Given the description of an element on the screen output the (x, y) to click on. 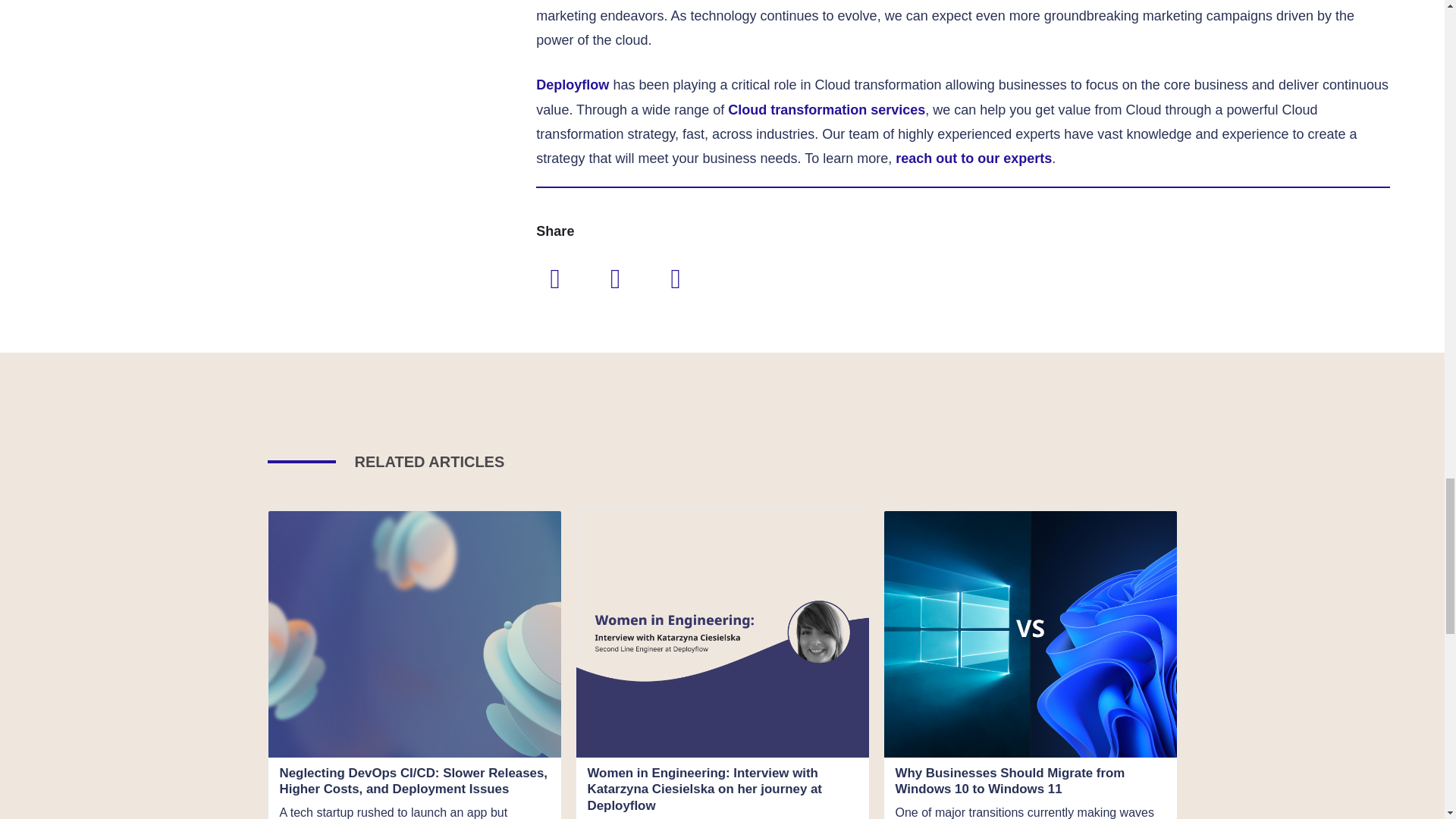
Deployflow (571, 84)
reach out to our experts (973, 158)
Cloud transformation services (826, 109)
